Given the description of an element on the screen output the (x, y) to click on. 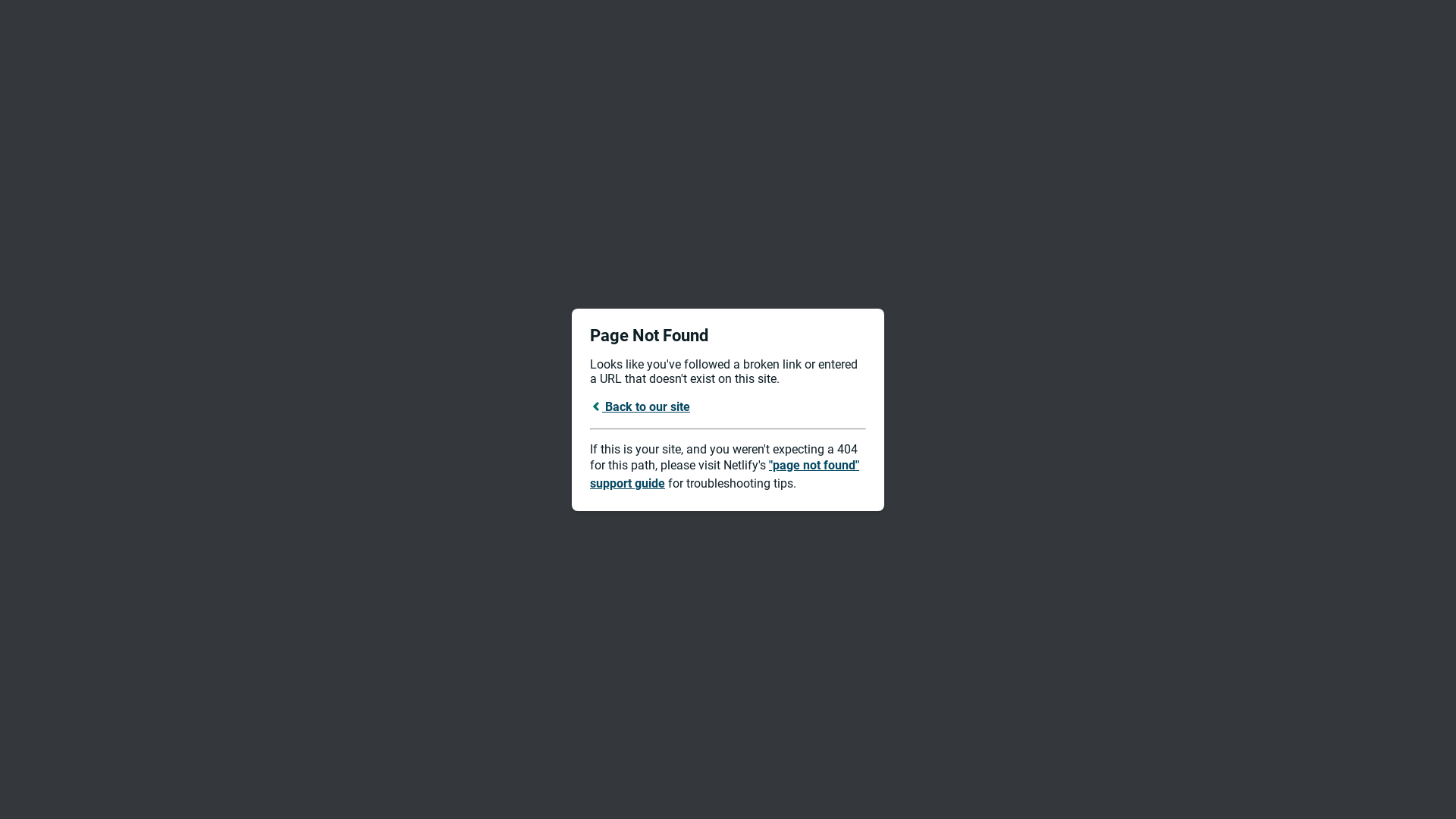
Back to our site Element type: text (639, 405)
"page not found" support guide Element type: text (724, 474)
